Given the description of an element on the screen output the (x, y) to click on. 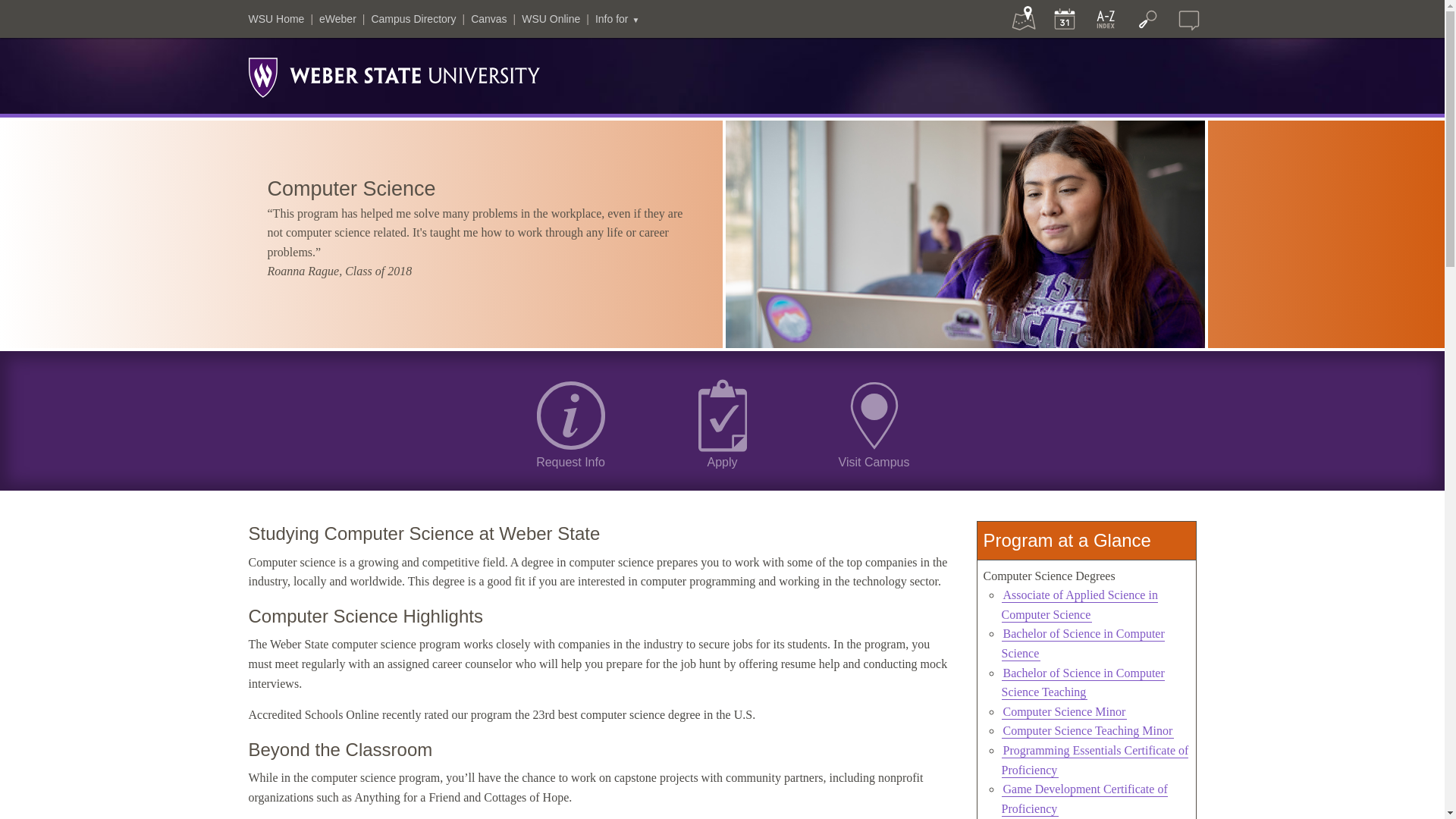
WSU Home (276, 19)
Campus Directory (413, 19)
Info for (617, 19)
Canvas (488, 19)
WSU Online (550, 19)
eWeber (337, 19)
